Given the description of an element on the screen output the (x, y) to click on. 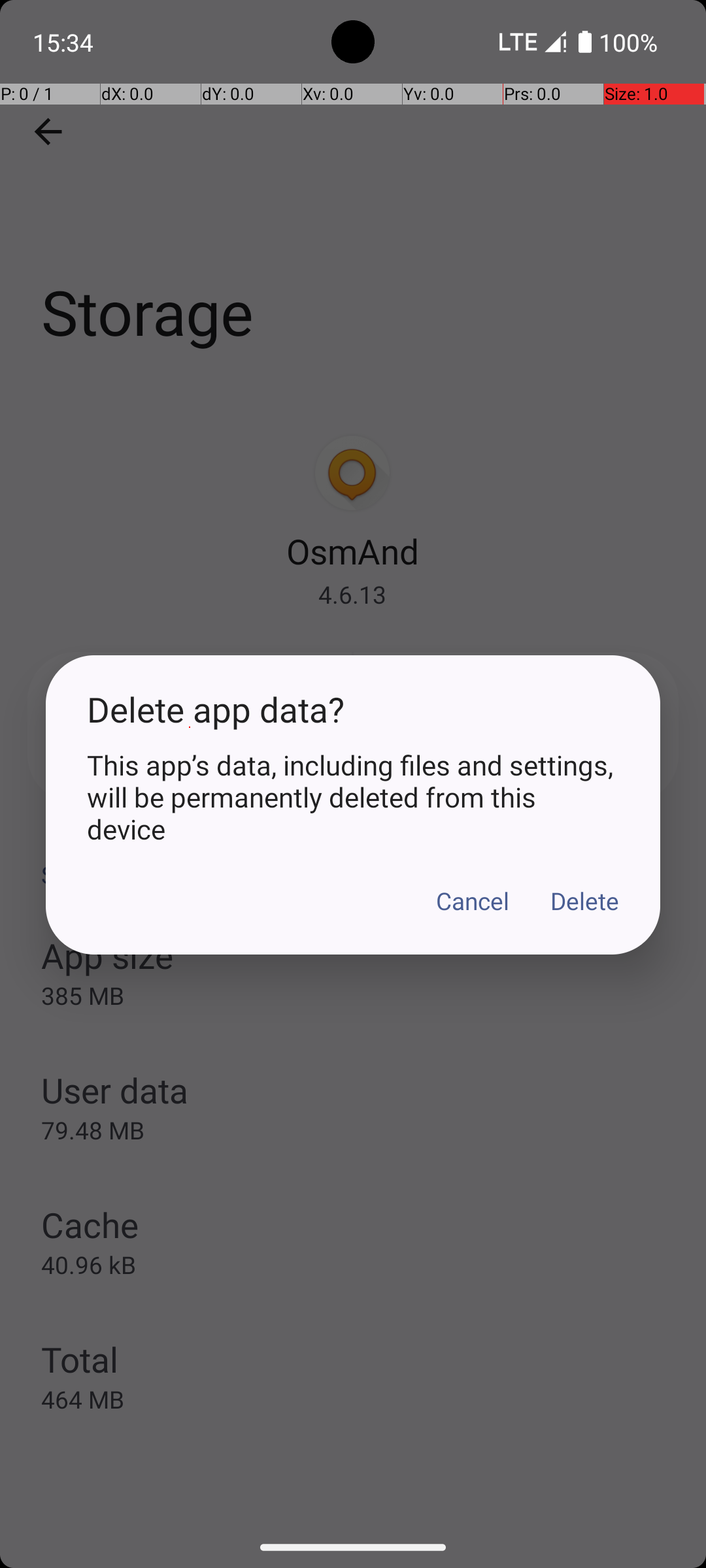
Delete app data? Element type: android.widget.TextView (352, 709)
This app’s data, including files and settings, will be permanently deleted from this device Element type: android.widget.TextView (352, 796)
